Given the description of an element on the screen output the (x, y) to click on. 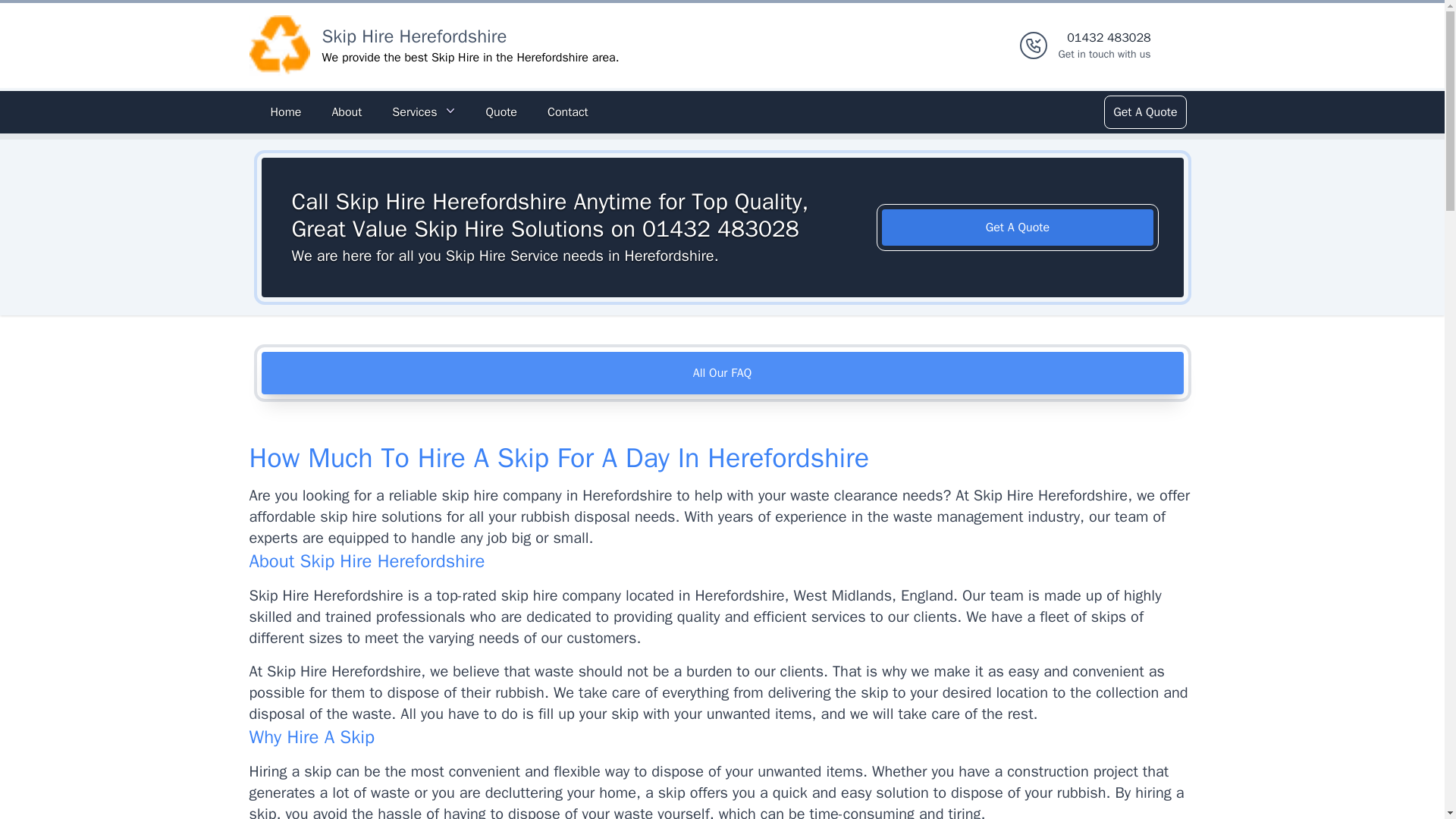
Get A Quote (1017, 227)
Contact (567, 112)
Skip Hire Herefordshire (413, 36)
Logo (278, 45)
Get A Quote (1144, 112)
Quote (500, 112)
All Our FAQ (721, 372)
Home (285, 112)
About (346, 112)
Services (1104, 45)
